Given the description of an element on the screen output the (x, y) to click on. 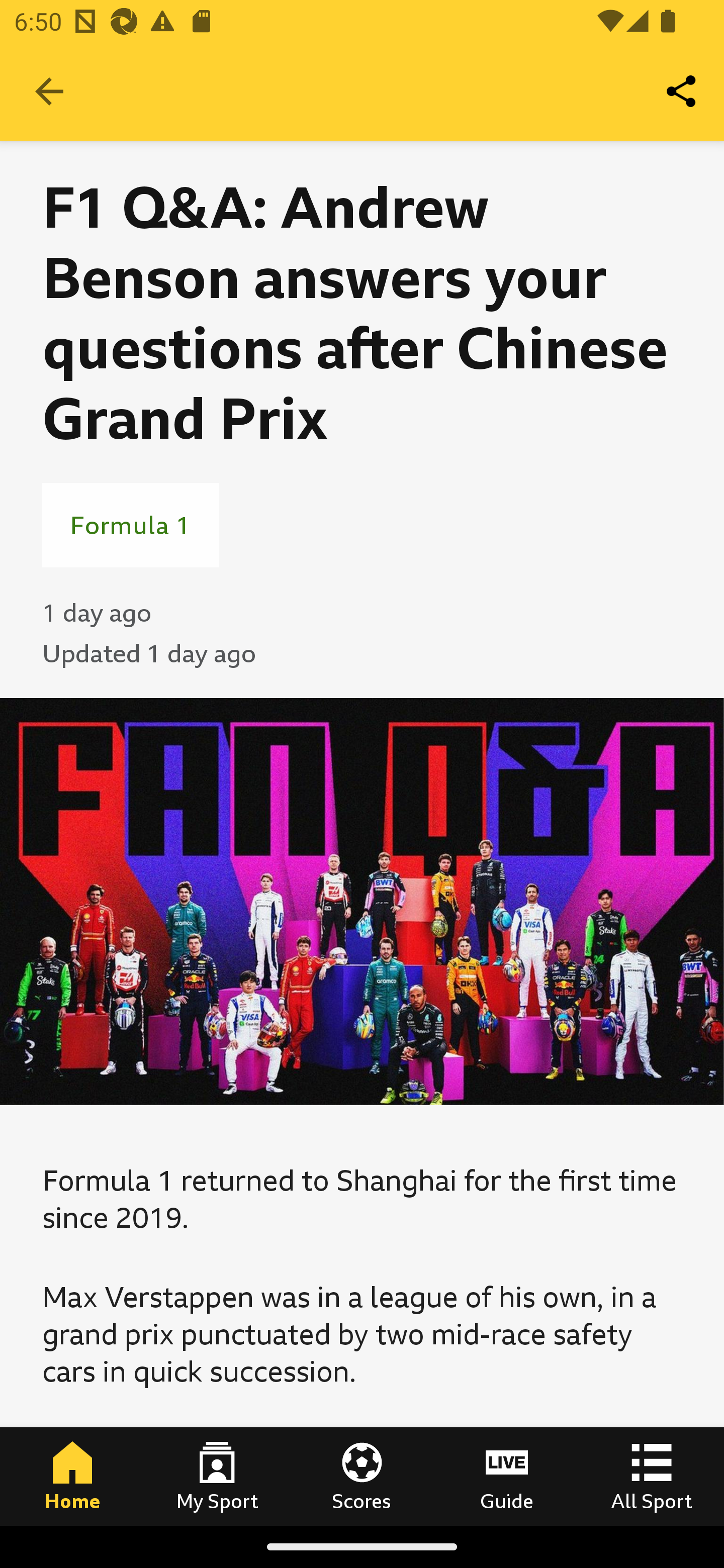
Navigate up (49, 91)
Share (681, 90)
Formula 1 (130, 524)
My Sport (216, 1475)
Scores (361, 1475)
Guide (506, 1475)
All Sport (651, 1475)
